Given the description of an element on the screen output the (x, y) to click on. 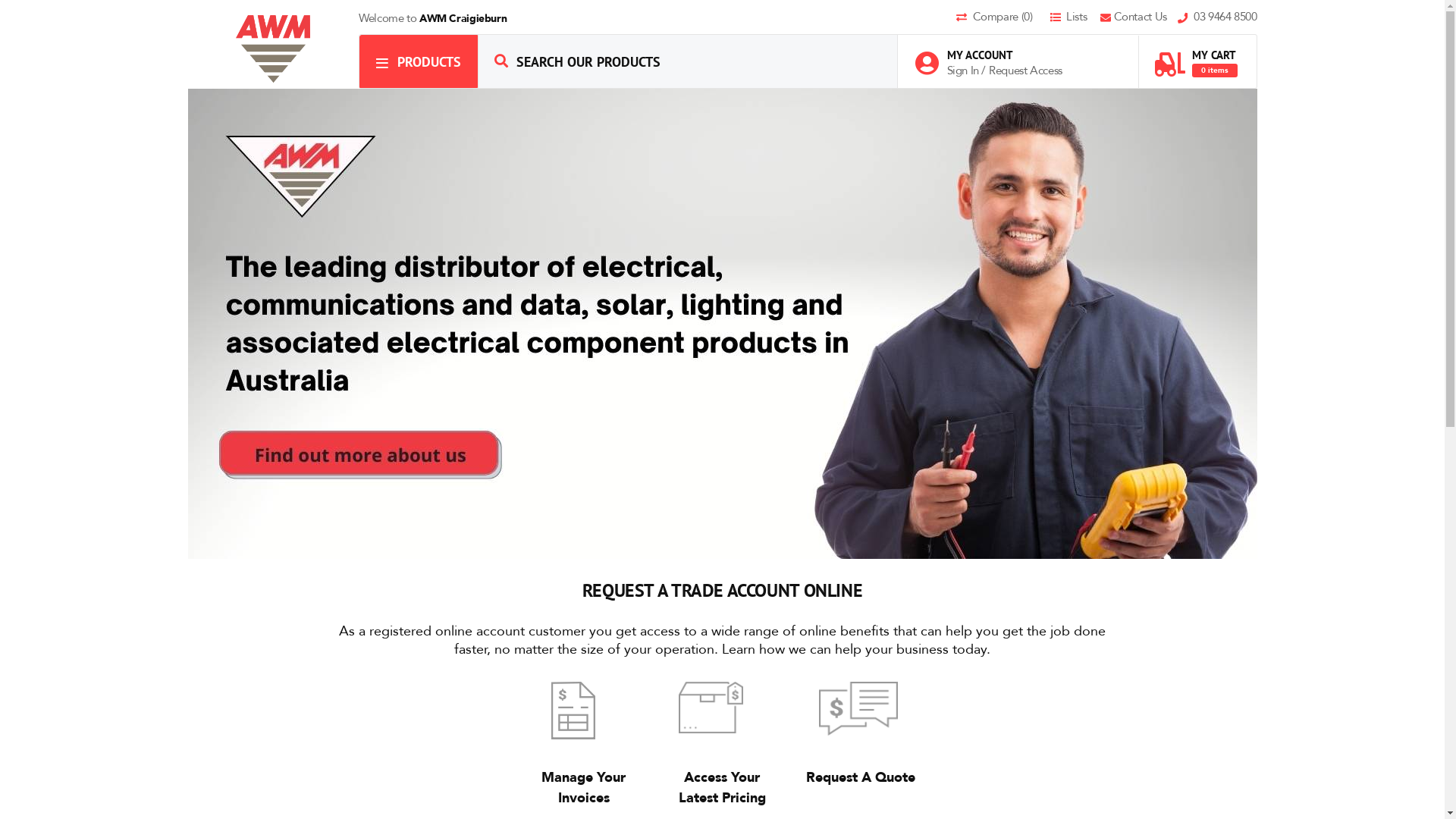
03 9464 8500 Element type: text (1217, 17)
AWM Electrical Element type: hover (273, 49)
Lists Element type: text (1073, 17)
MY ACCOUNT Element type: text (995, 54)
AWM Electrical Element type: hover (272, 49)
MY CART
0 items Element type: text (1195, 55)
Sign In Element type: text (963, 70)
Request Access Element type: text (1025, 70)
Contact Us Element type: text (1138, 17)
Compare 0 Element type: text (1001, 17)
Search Element type: text (501, 60)
